Given the description of an element on the screen output the (x, y) to click on. 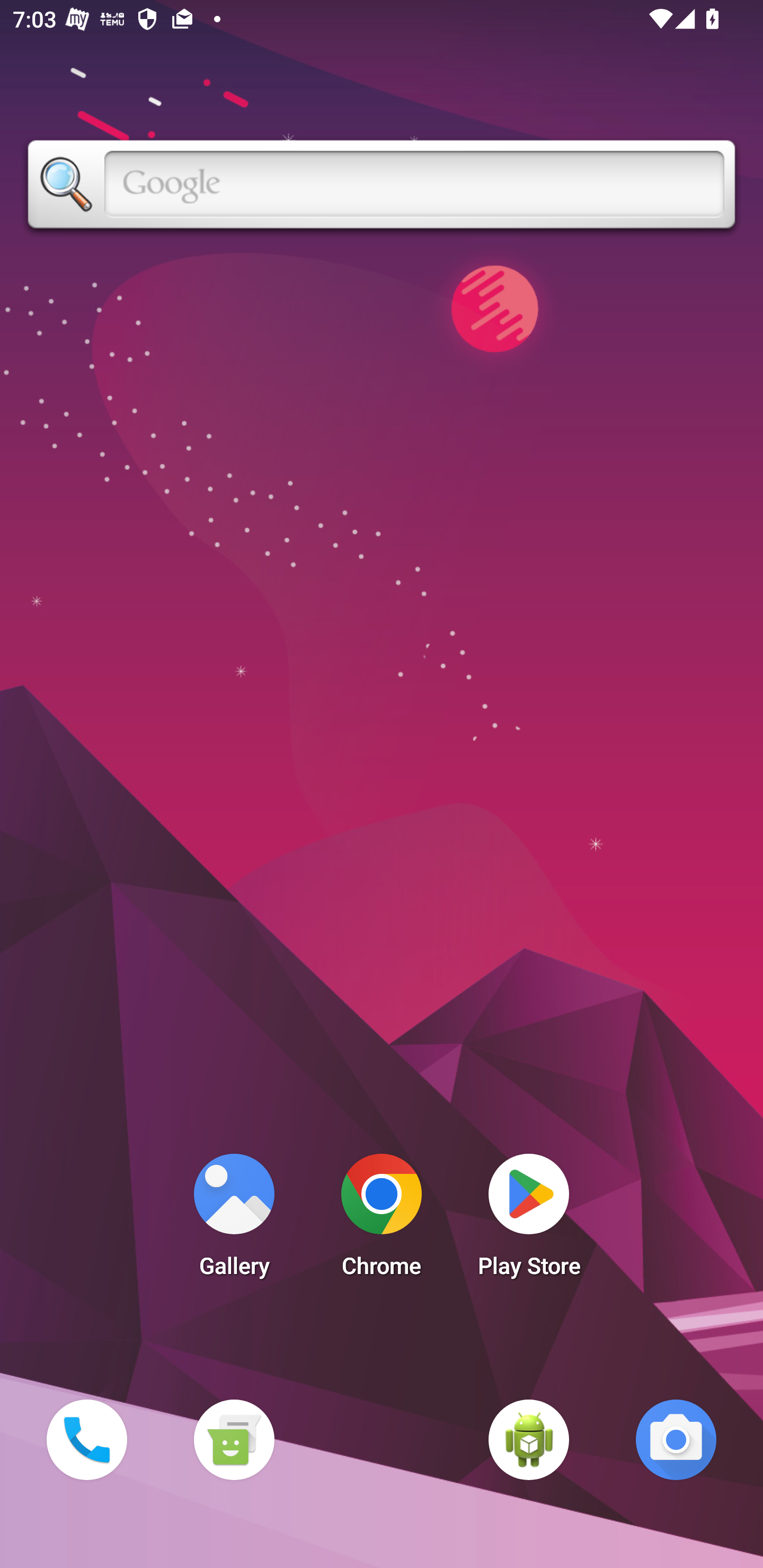
Gallery (233, 1220)
Chrome (381, 1220)
Play Store (528, 1220)
Phone (86, 1439)
Messaging (233, 1439)
WebView Browser Tester (528, 1439)
Camera (676, 1439)
